Given the description of an element on the screen output the (x, y) to click on. 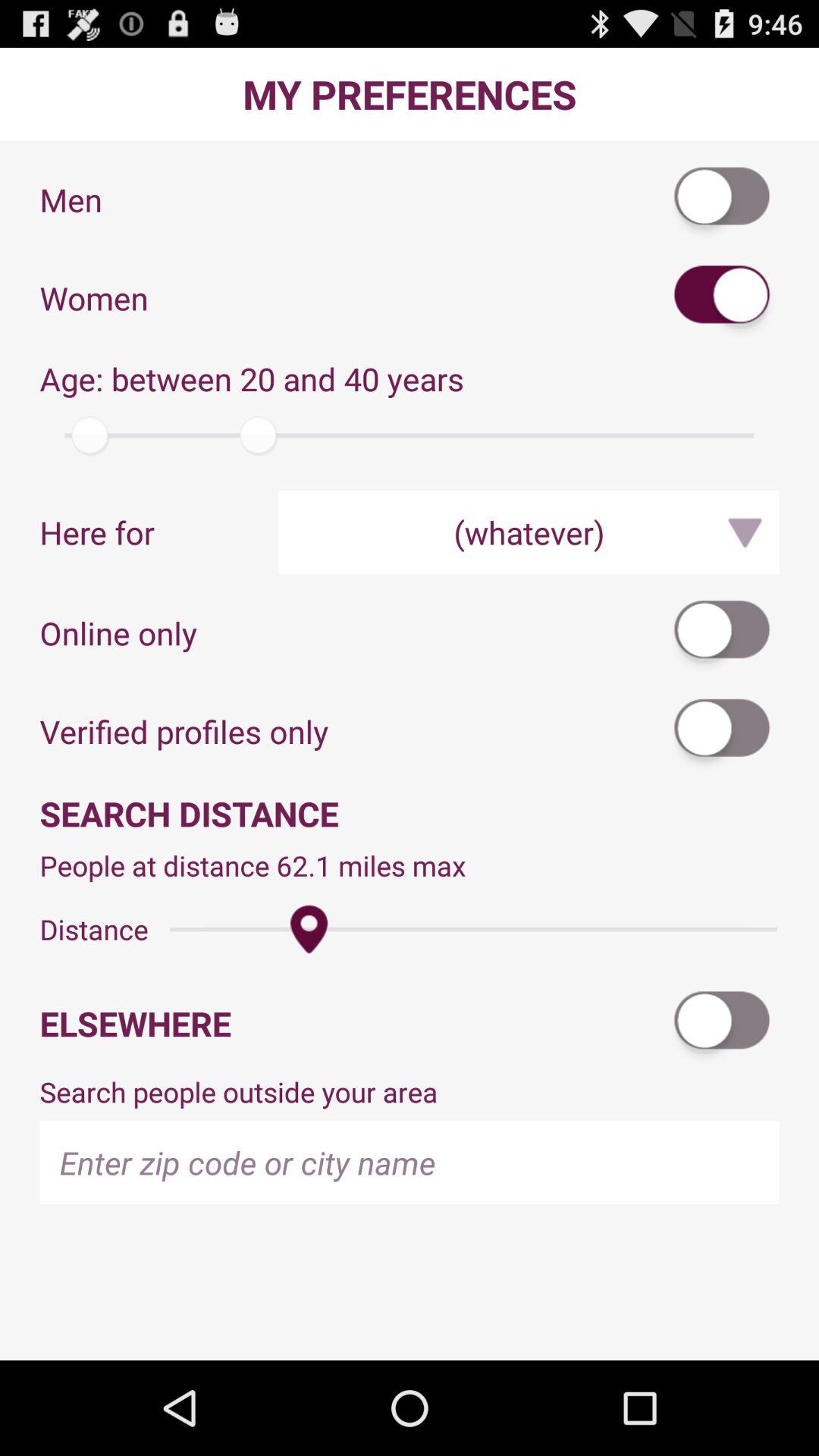
select the app to the right of online only item (722, 632)
